Given the description of an element on the screen output the (x, y) to click on. 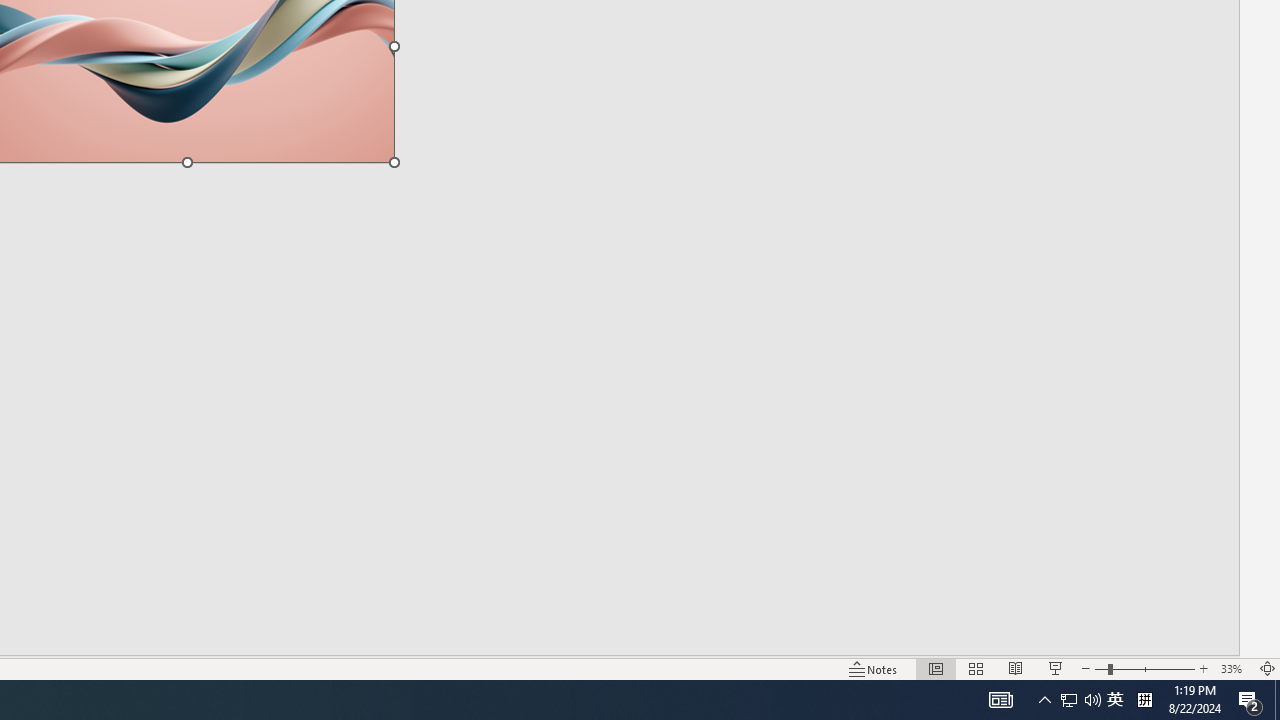
Zoom 33% (1234, 668)
